Given the description of an element on the screen output the (x, y) to click on. 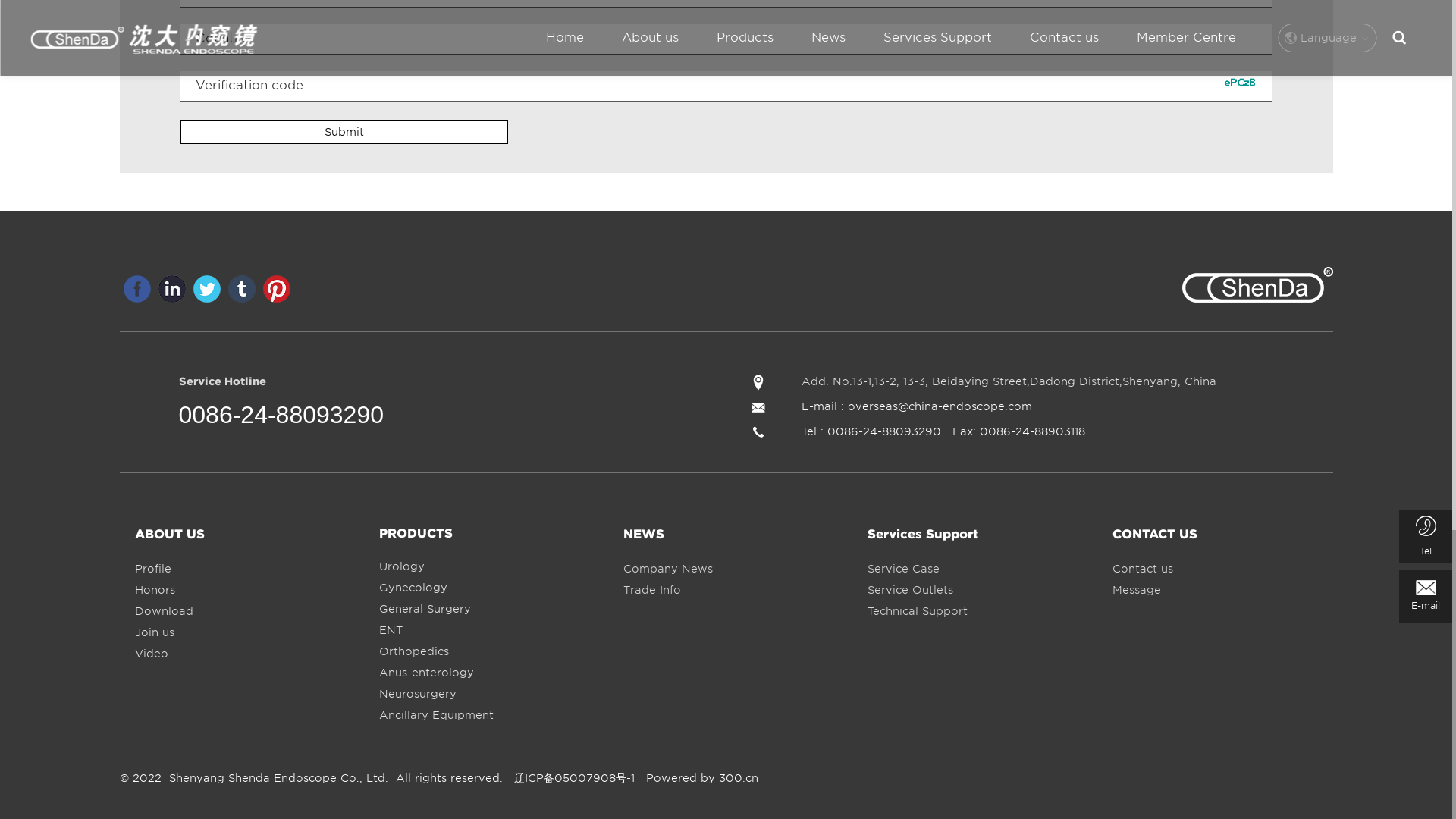
Tumblr (240, 288)
Twitter (205, 288)
Tel (758, 434)
Pinterest (275, 288)
Shenyang Shenda Endoscope Co., Ltd. (1256, 287)
Add.  (758, 384)
E-mail (758, 409)
Linkedin (170, 288)
Facebook (135, 288)
